Given the description of an element on the screen output the (x, y) to click on. 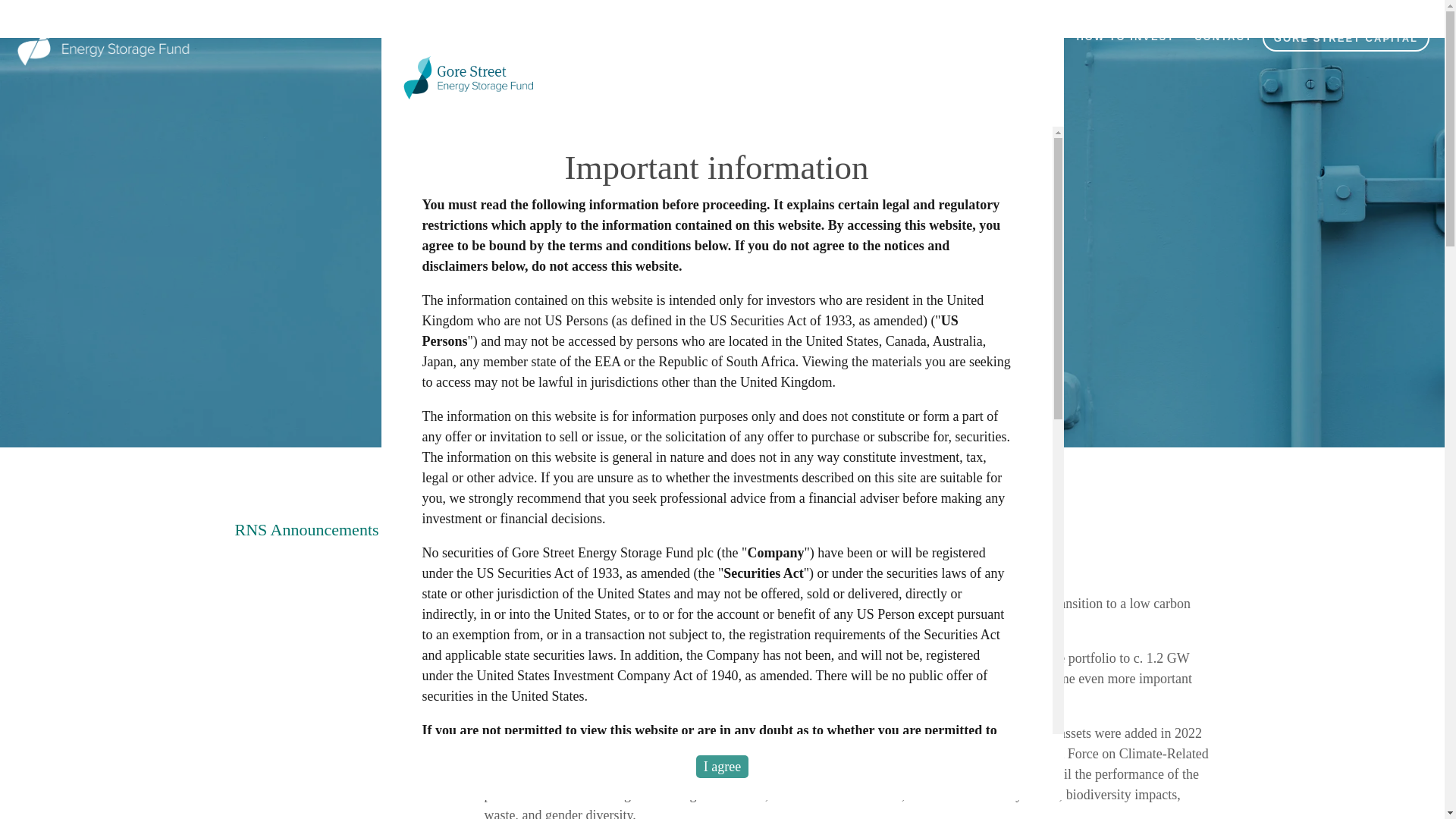
Home (123, 38)
WHO WE ARE (844, 36)
INVESTOR INFORMATION (981, 36)
CONTACT (1223, 36)
GORE STREET CAPITAL (1345, 37)
GSC (103, 38)
HOW TO INVEST (1125, 36)
I agree (721, 766)
